Given the description of an element on the screen output the (x, y) to click on. 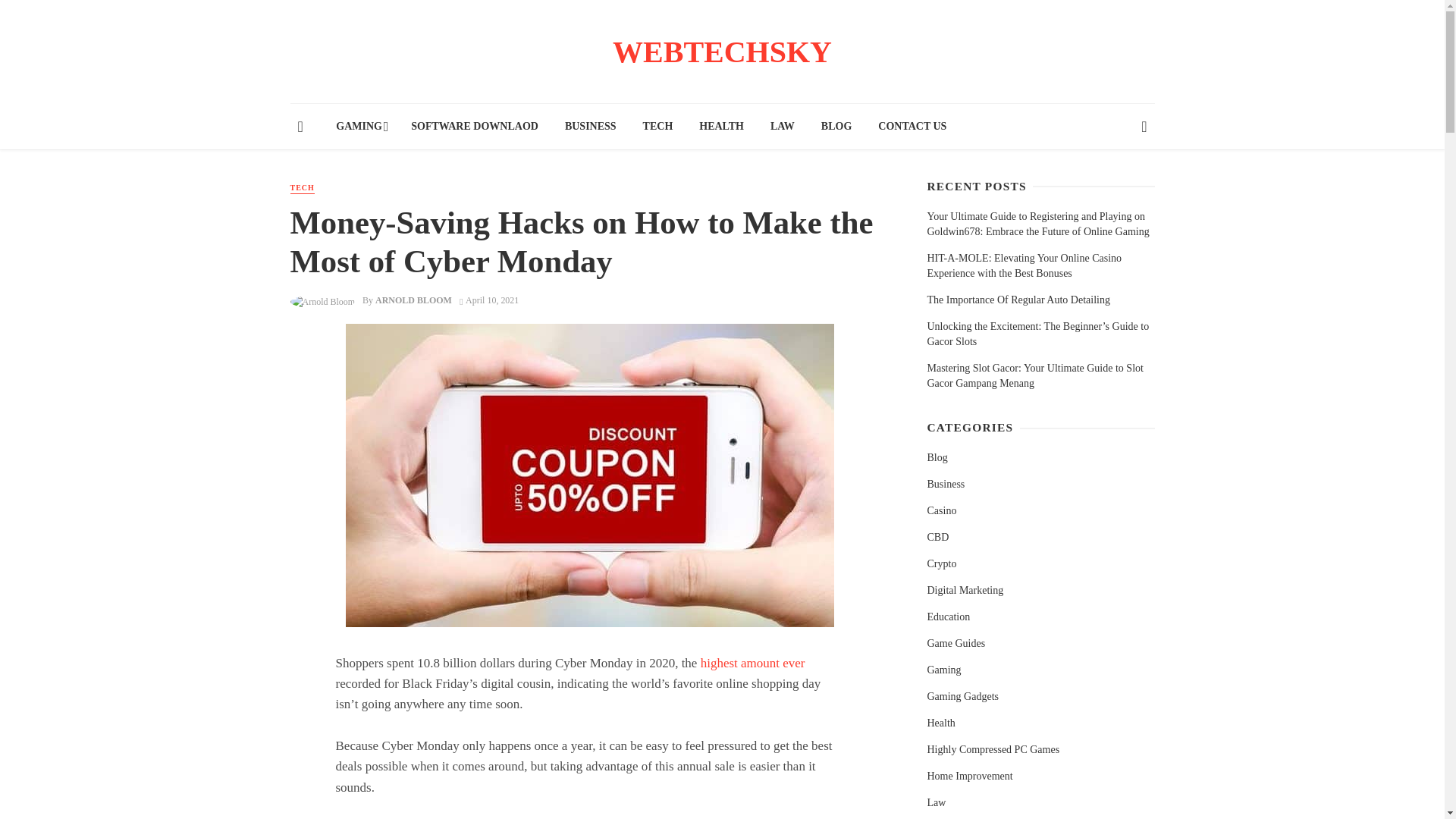
CONTACT US (911, 126)
SOFTWARE DOWNLAOD (474, 126)
ARNOLD BLOOM (413, 299)
The Importance Of Regular Auto Detailing (1017, 299)
BUSINESS (589, 126)
Business (944, 484)
WEBTECHSKY (721, 58)
HEALTH (721, 126)
TECH (301, 188)
BLOG (836, 126)
highest amount ever (752, 663)
TECH (656, 126)
Posts by Arnold Bloom (413, 299)
